Given the description of an element on the screen output the (x, y) to click on. 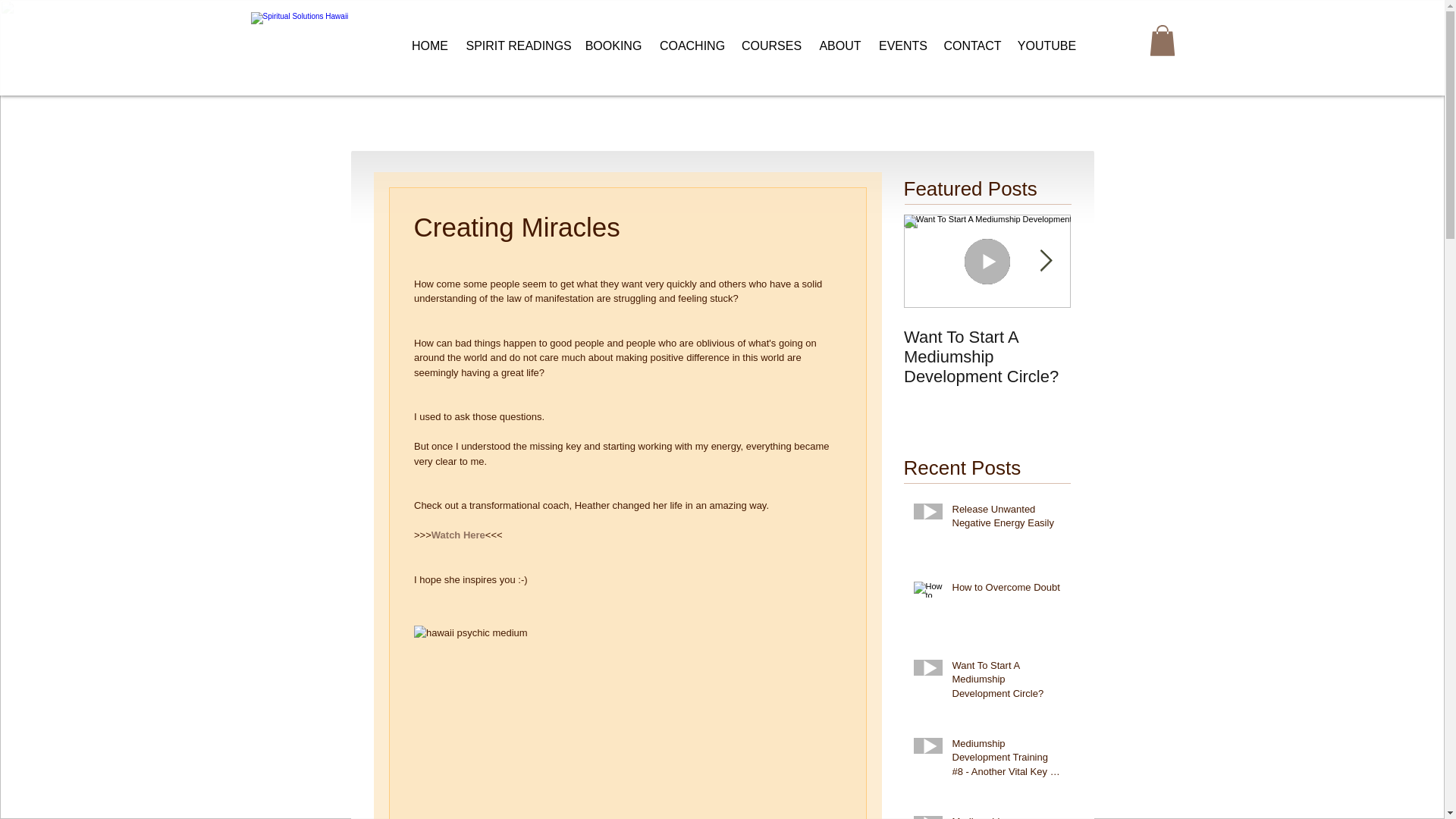
Want To Start A Mediumship Development Circle? (1006, 682)
Yoshie Miakoda Psychic Medium (304, 40)
CONTACT (973, 45)
YOUTUBE (1047, 45)
Watch Here (457, 534)
HOME (429, 45)
COURSES (771, 45)
How to Overcome Doubt (1006, 590)
BOOKING (613, 45)
Want To Start A Mediumship Development Circle? (987, 356)
EVENTS (902, 45)
Release Unwanted Negative Energy Easily (1006, 519)
